Given the description of an element on the screen output the (x, y) to click on. 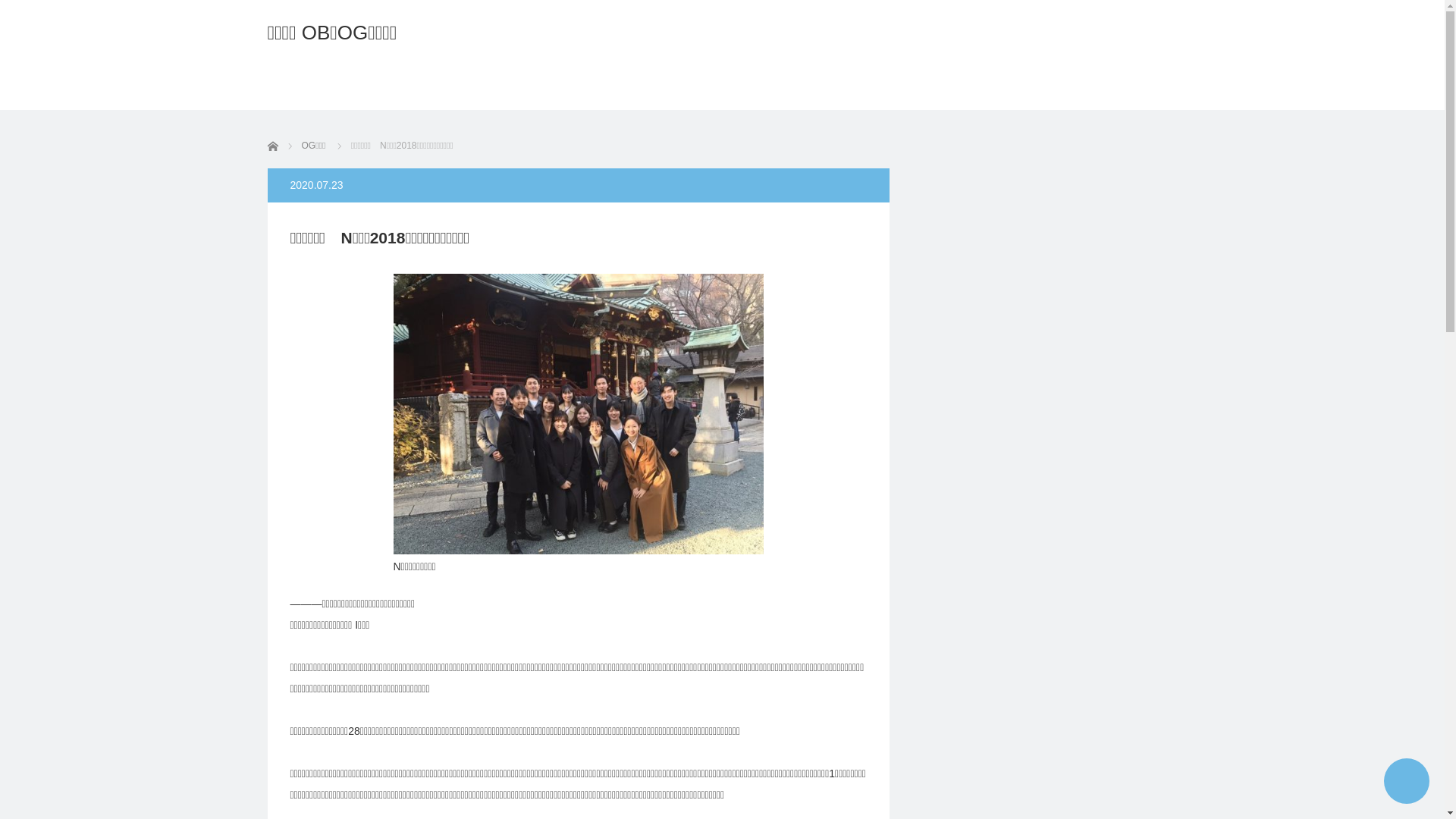
PAGE TOP Element type: text (1406, 780)
